Given the description of an element on the screen output the (x, y) to click on. 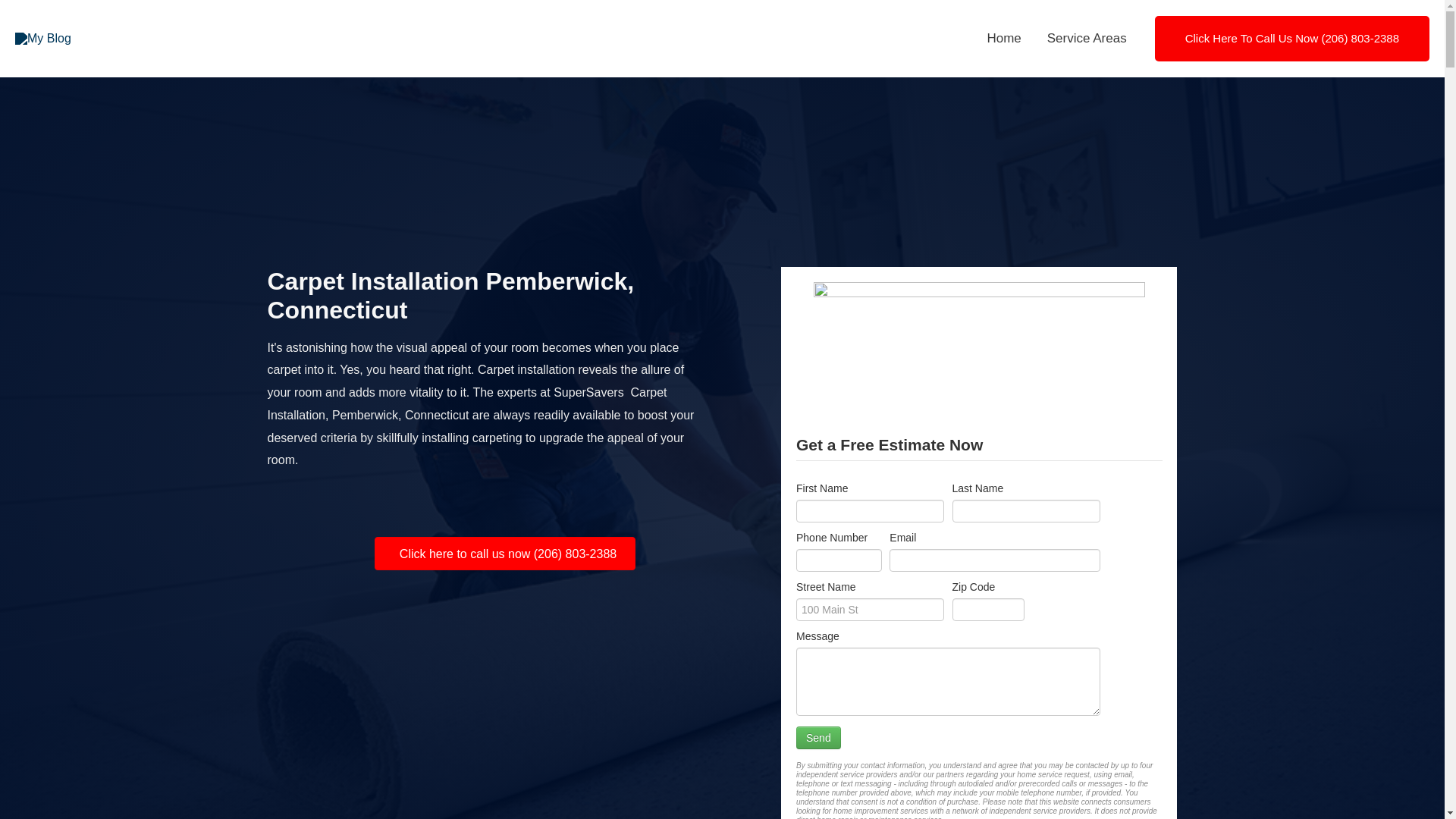
Home (1003, 38)
Service Areas (1086, 38)
